Given the description of an element on the screen output the (x, y) to click on. 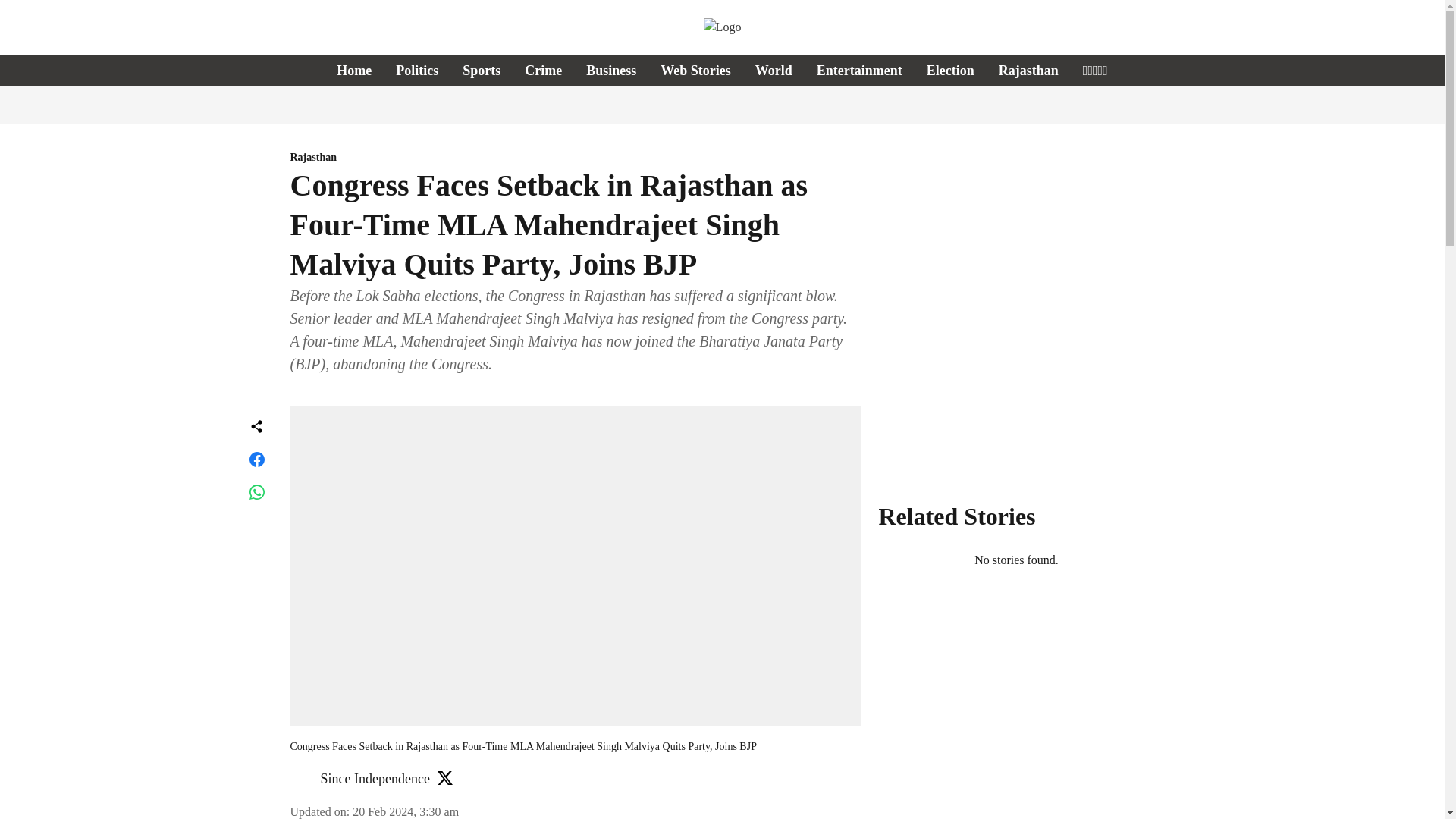
Web Stories (695, 70)
Business (611, 70)
Election (950, 70)
Home (353, 70)
Since Independence (374, 778)
Sports (481, 70)
Entertainment (859, 70)
Politics (417, 70)
Rajasthan (574, 157)
Rajasthan (1028, 70)
World (773, 70)
Crime (543, 70)
